Given the description of an element on the screen output the (x, y) to click on. 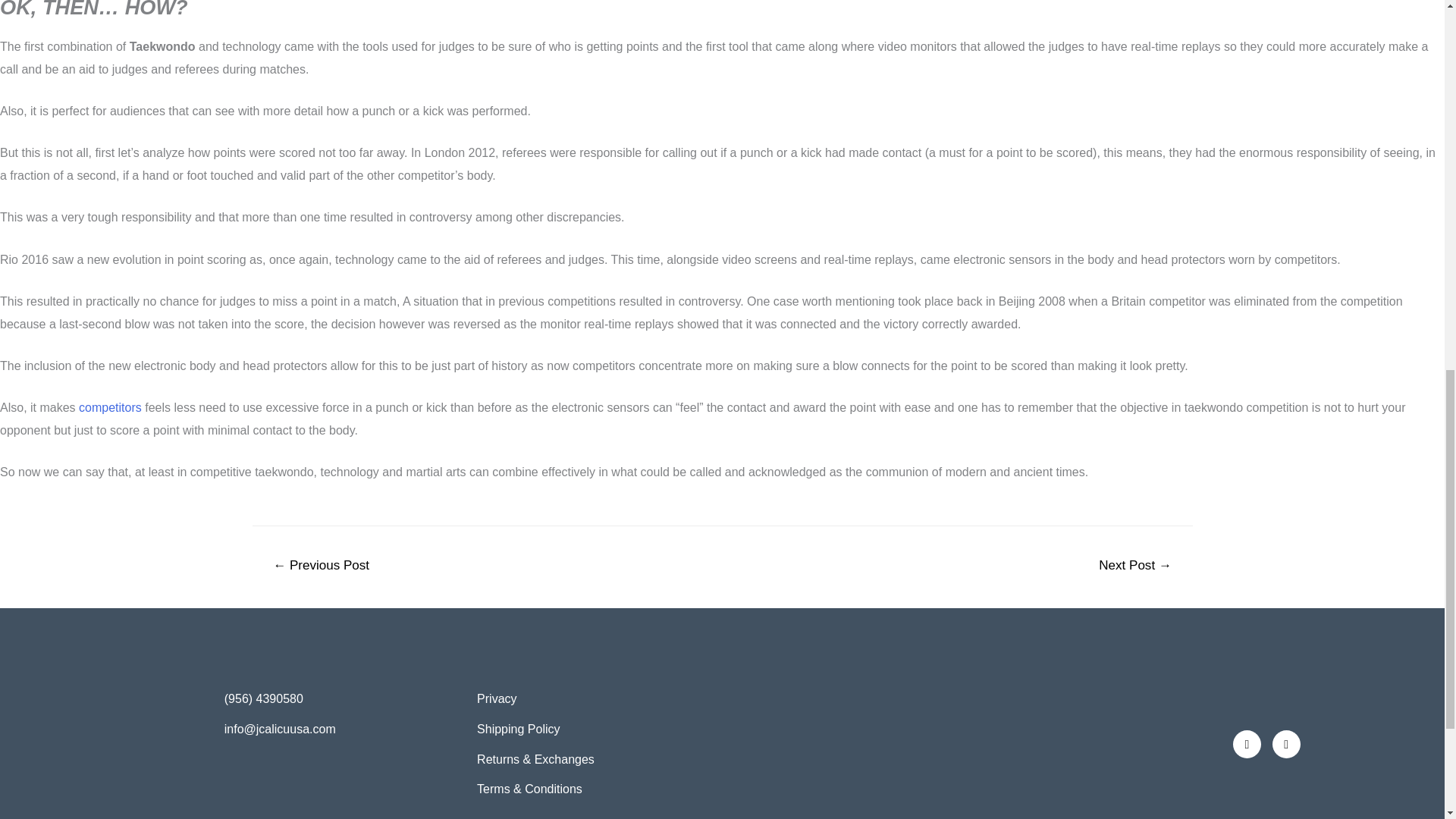
Shipping Policy (595, 729)
competitors (109, 407)
Privacy (595, 698)
